Given the description of an element on the screen output the (x, y) to click on. 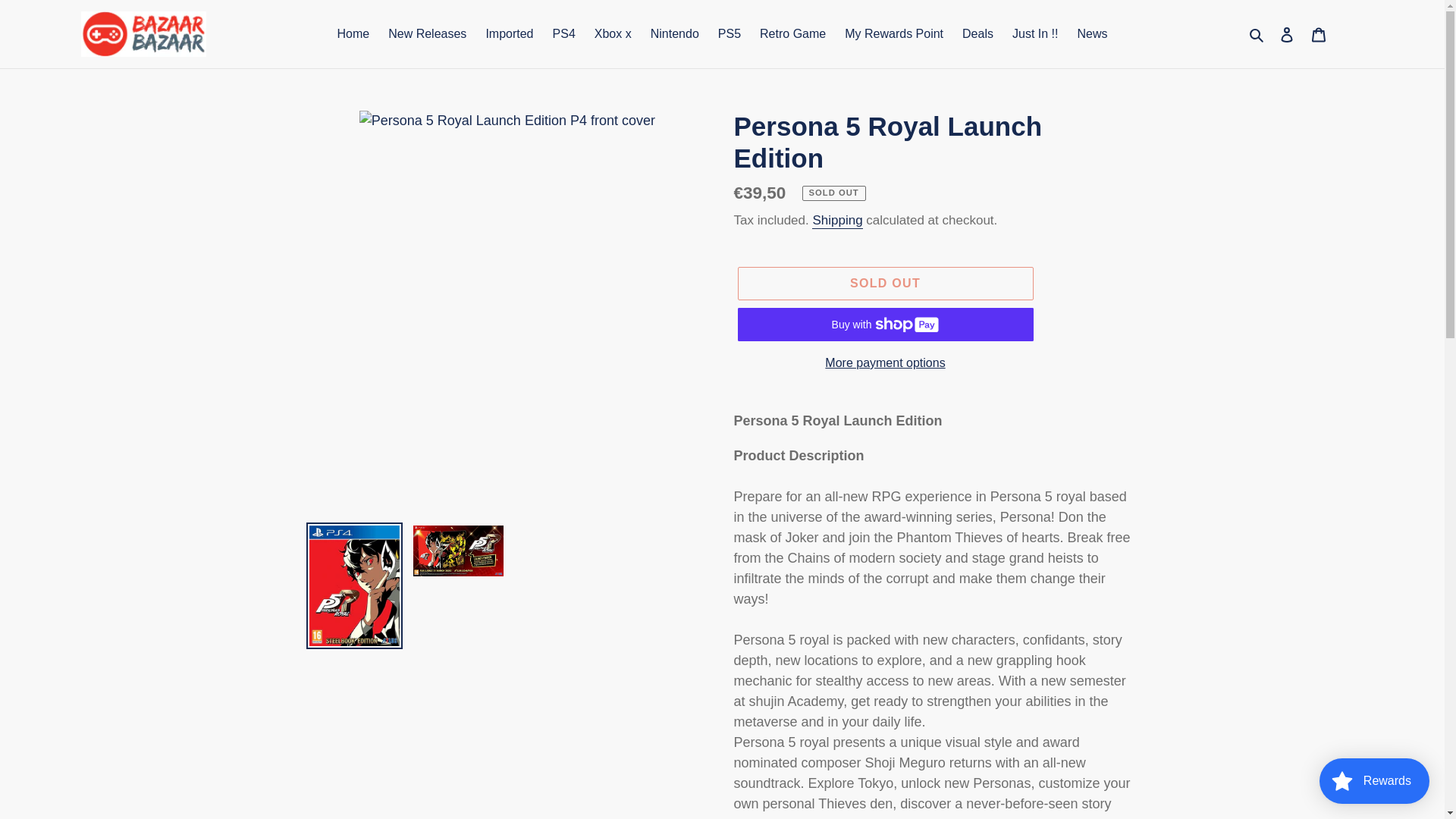
My Rewards Point (893, 33)
SOLD OUT (884, 283)
Nintendo (674, 33)
Search (1257, 33)
New Releases (427, 33)
Shipping (836, 220)
Cart (1319, 34)
Deals (978, 33)
Xbox x (612, 33)
Imported (508, 33)
Log in (1287, 34)
More payment options (884, 362)
Home (353, 33)
Just In !! (1034, 33)
Retro Game (792, 33)
